Given the description of an element on the screen output the (x, y) to click on. 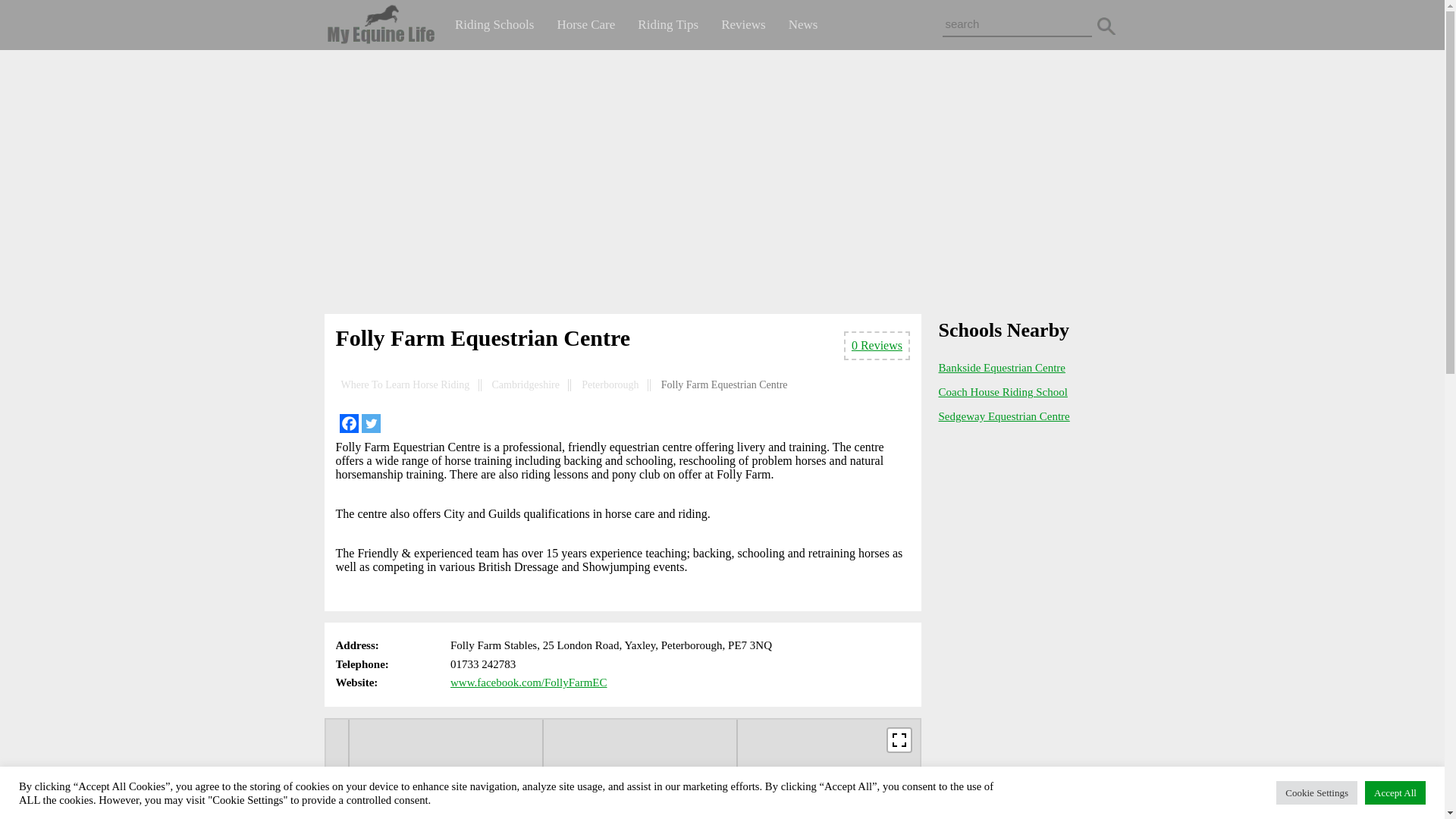
Bankside Equestrian Centre (1002, 367)
Cambridgeshire (525, 385)
Facebook (348, 423)
Peterborough (609, 385)
Where To Learn Horse Riding (405, 385)
Horse Care (585, 23)
Riding Tips (667, 23)
0 Reviews (876, 345)
Sedgeway Equestrian Centre (1004, 416)
Toggle fullscreen view (899, 739)
Twitter (370, 423)
Reviews (742, 23)
News (803, 23)
Accept All (1395, 792)
